Given the description of an element on the screen output the (x, y) to click on. 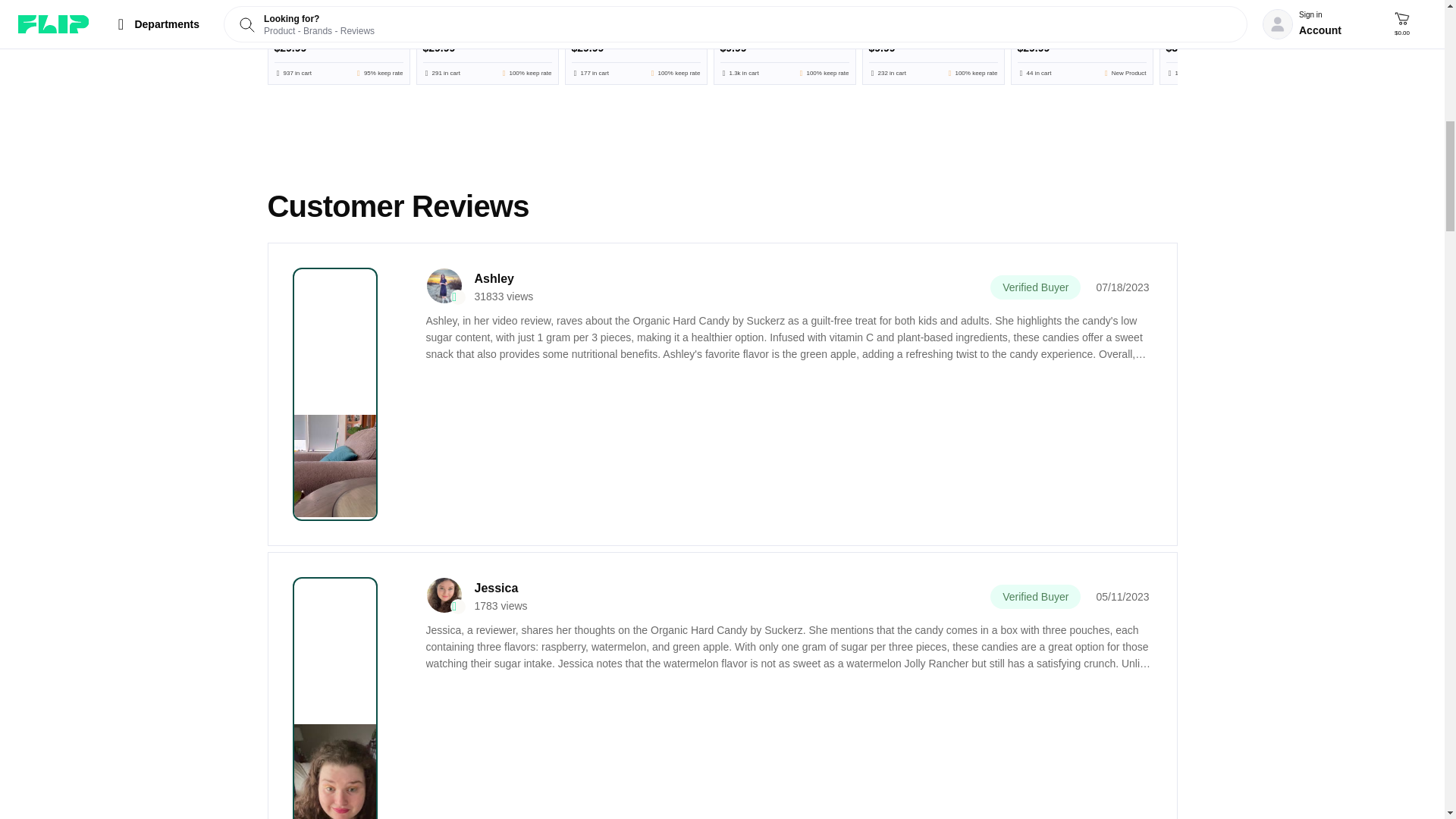
Cruncn-N Gummy 5 Pack Freeze Dried Candy (338, 42)
Twist And Crunch 3 Pack Rainbow Crunch Freeze Dried (486, 42)
Rainbow Crunch Freeze Dried Candy (636, 42)
